Given the description of an element on the screen output the (x, y) to click on. 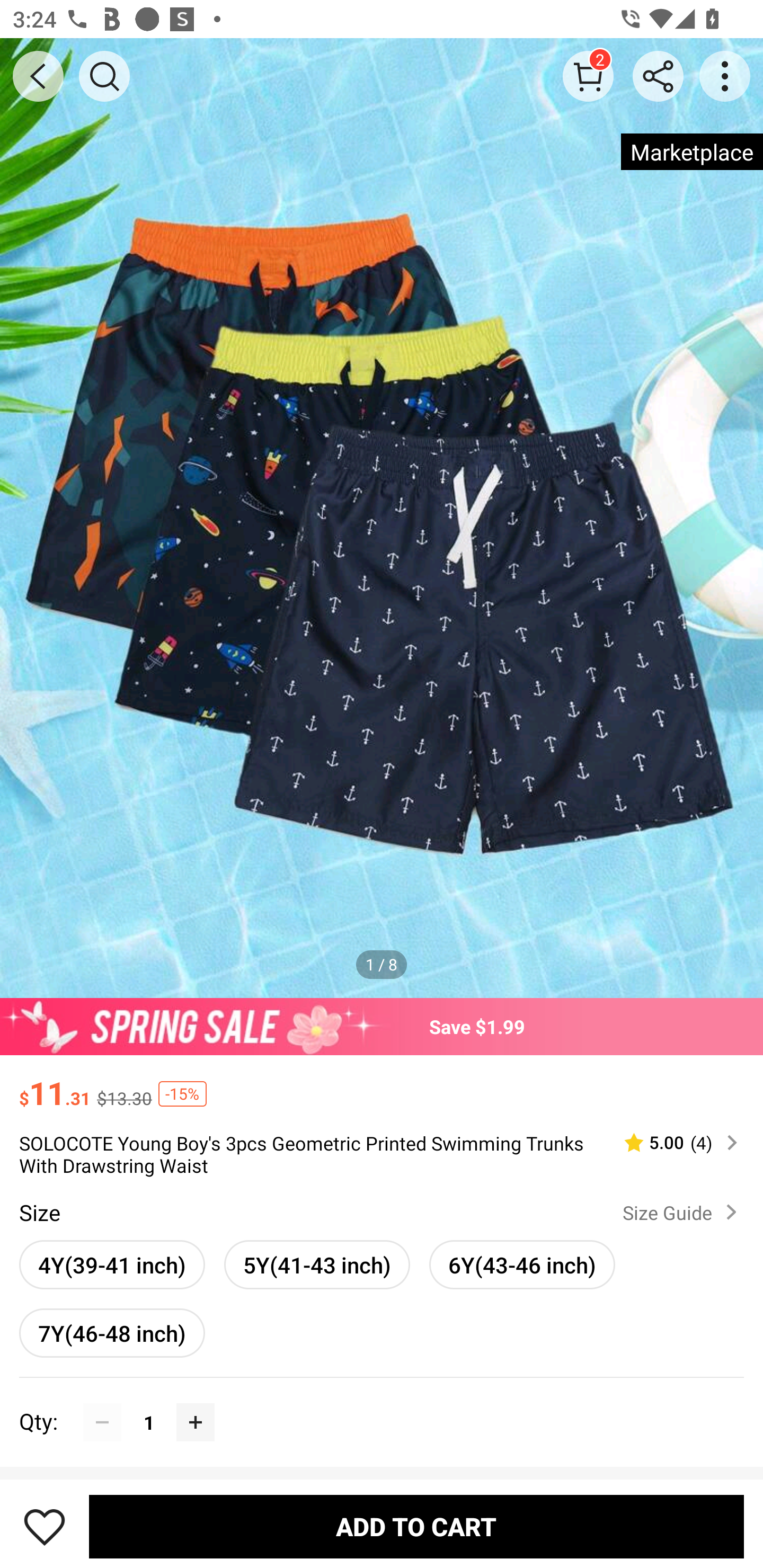
BACK (38, 75)
2 (588, 75)
1 / 8 (381, 964)
Save $1.99 (381, 1026)
$11.31 $13.30 -15% (381, 1084)
5.00 (4) (672, 1142)
Size (39, 1212)
Size Guide (682, 1211)
4Y(39-41 inch) 4Y(39-41 inch)unselected option (112, 1264)
5Y(41-43 inch) 5Y(41-43 inch)unselected option (317, 1264)
6Y(43-46 inch) 6Y(43-46 inch)unselected option (521, 1264)
7Y(46-48 inch) 7Y(46-48 inch)unselected option (112, 1332)
Qty: 1 (381, 1402)
ADD TO CART (416, 1526)
Save (44, 1526)
